Given the description of an element on the screen output the (x, y) to click on. 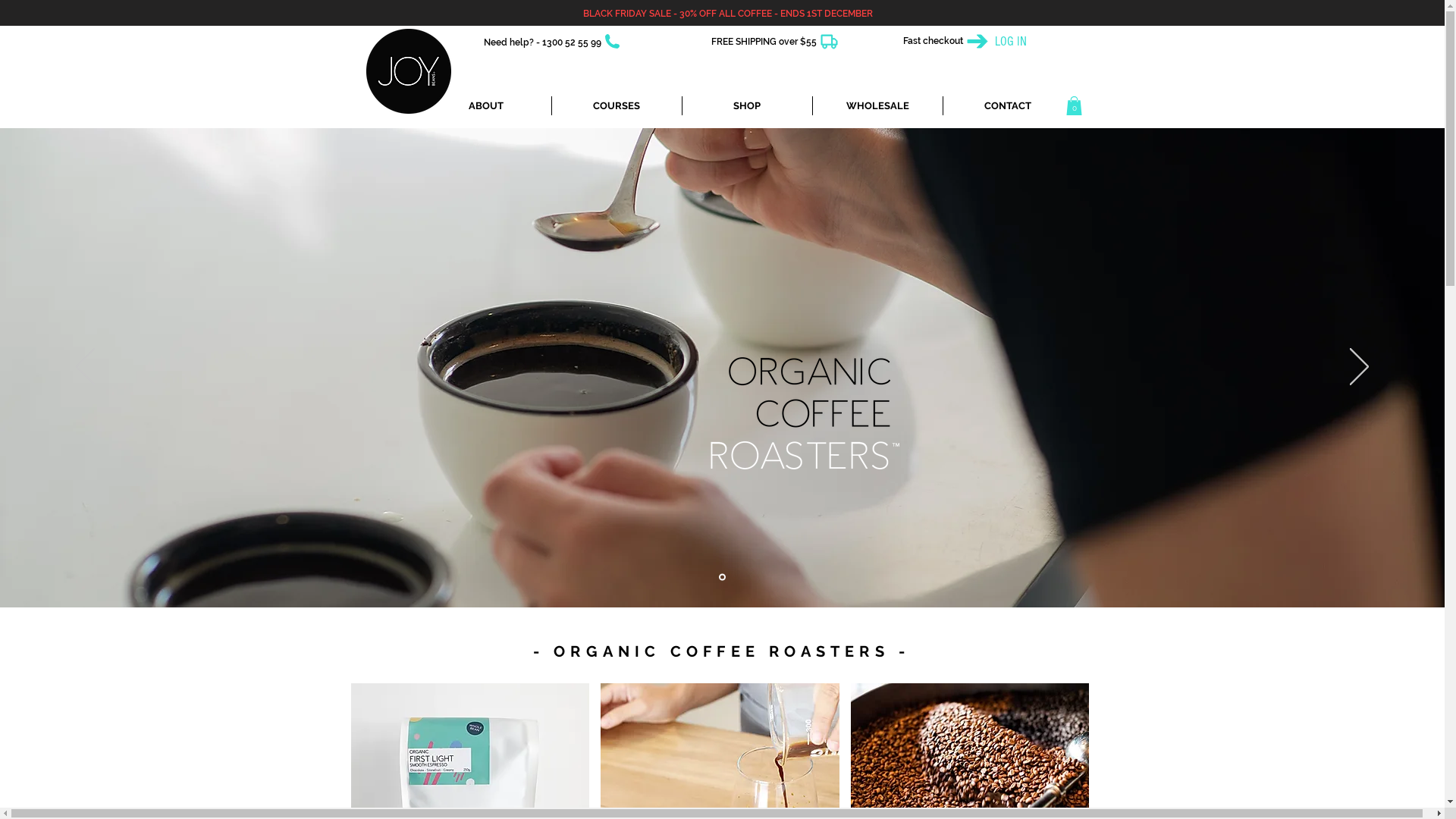
COURSES Element type: text (616, 105)
BLACK FRIDAY SALE - 30% OFF ALL COFFEE - ENDS 1ST DECEMBER Element type: text (727, 13)
SHOP Element type: text (747, 105)
WHOLESALE Element type: text (877, 105)
0 Element type: text (1074, 105)
Need help? - 1300 52 55 99 Element type: text (542, 42)
FREE SHIPPING over $55 Element type: text (763, 41)
CONTACT Element type: text (1007, 105)
LOG IN Element type: text (1010, 41)
Fast checkout Element type: text (932, 40)
